Given the description of an element on the screen output the (x, y) to click on. 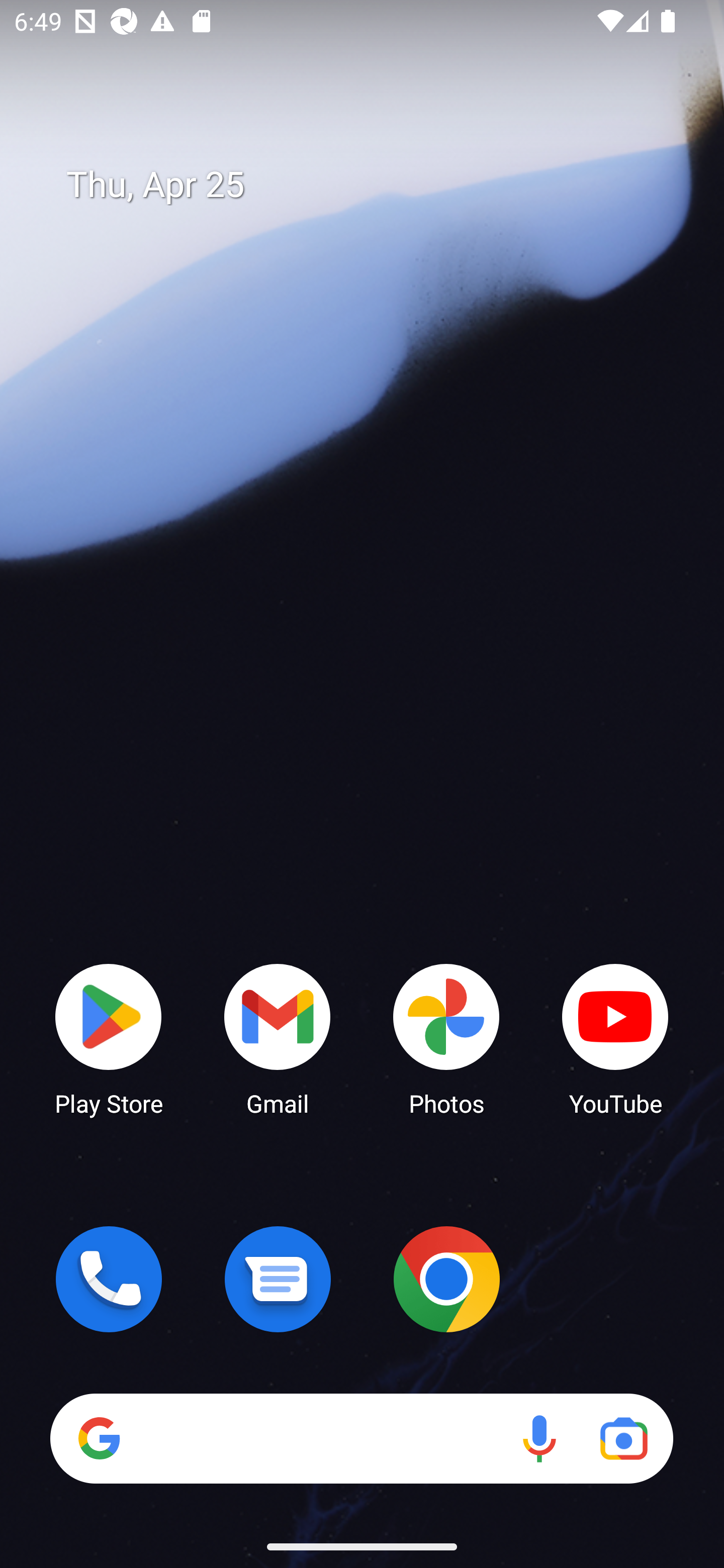
Thu, Apr 25 (375, 184)
Play Store (108, 1038)
Gmail (277, 1038)
Photos (445, 1038)
YouTube (615, 1038)
Phone (108, 1279)
Messages (277, 1279)
Chrome (446, 1279)
Search Voice search Google Lens (361, 1438)
Voice search (539, 1438)
Google Lens (623, 1438)
